Given the description of an element on the screen output the (x, y) to click on. 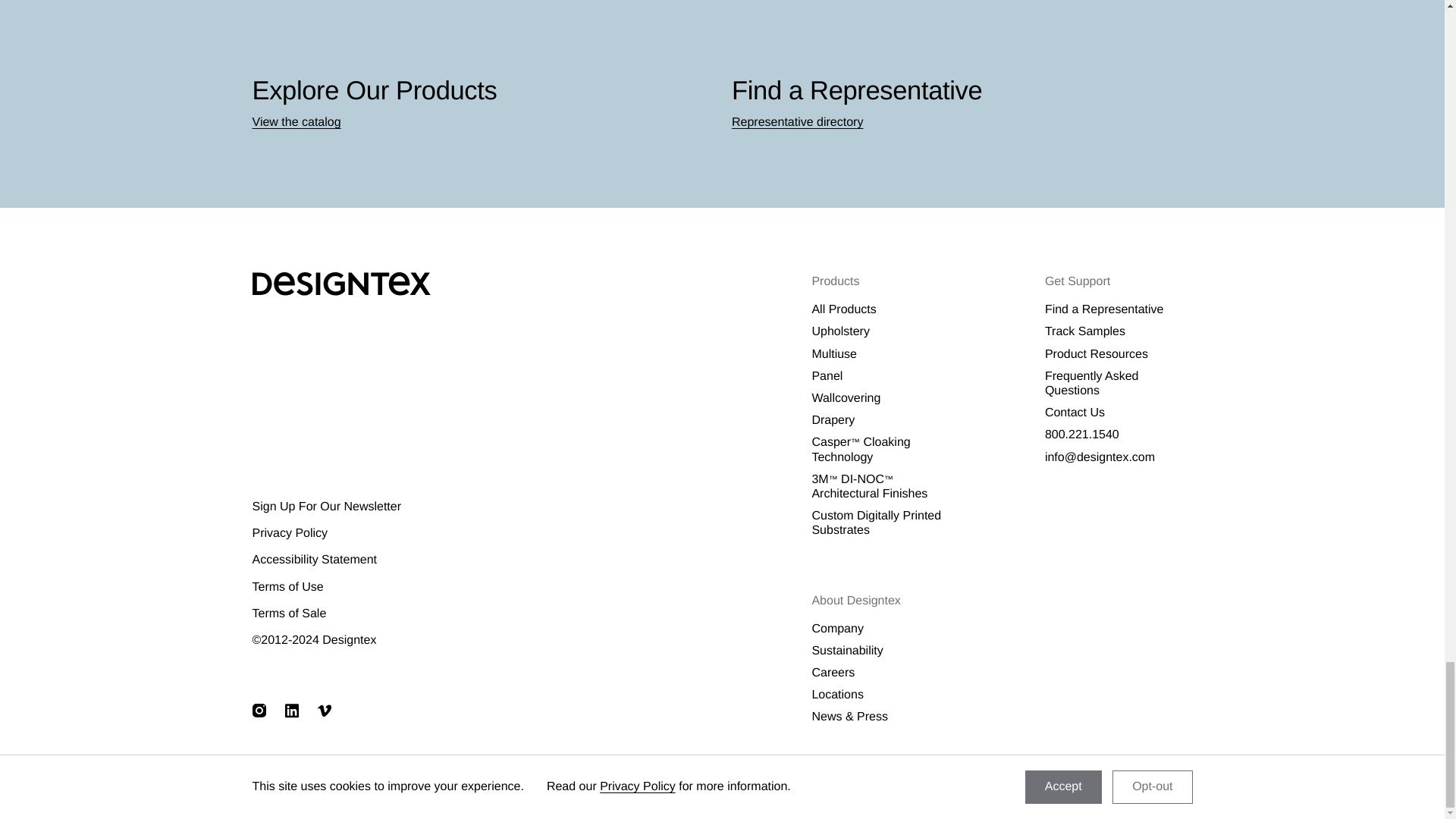
Opens in a new tab (257, 710)
